Given the description of an element on the screen output the (x, y) to click on. 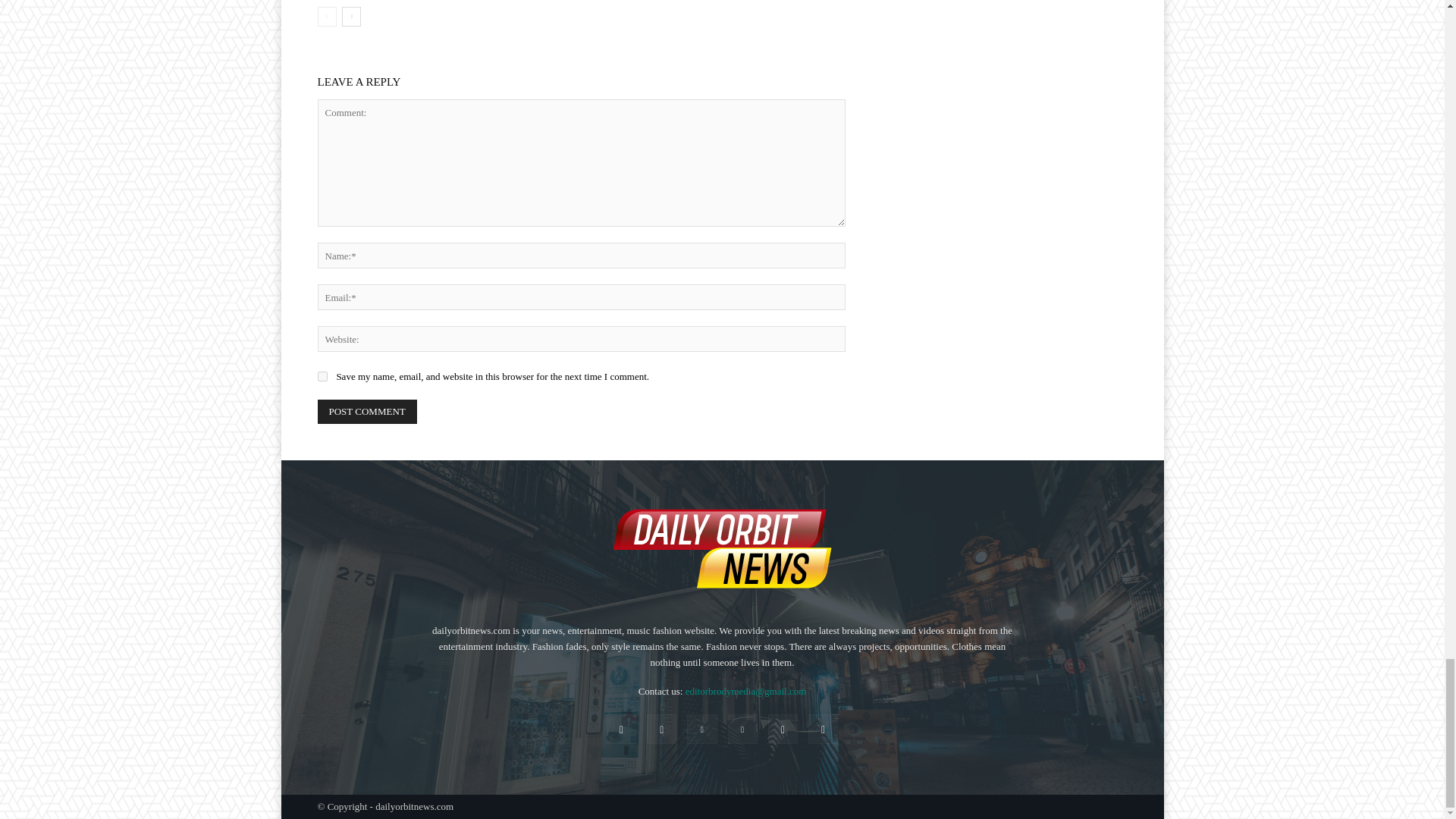
Post Comment (366, 411)
yes (321, 376)
